Given the description of an element on the screen output the (x, y) to click on. 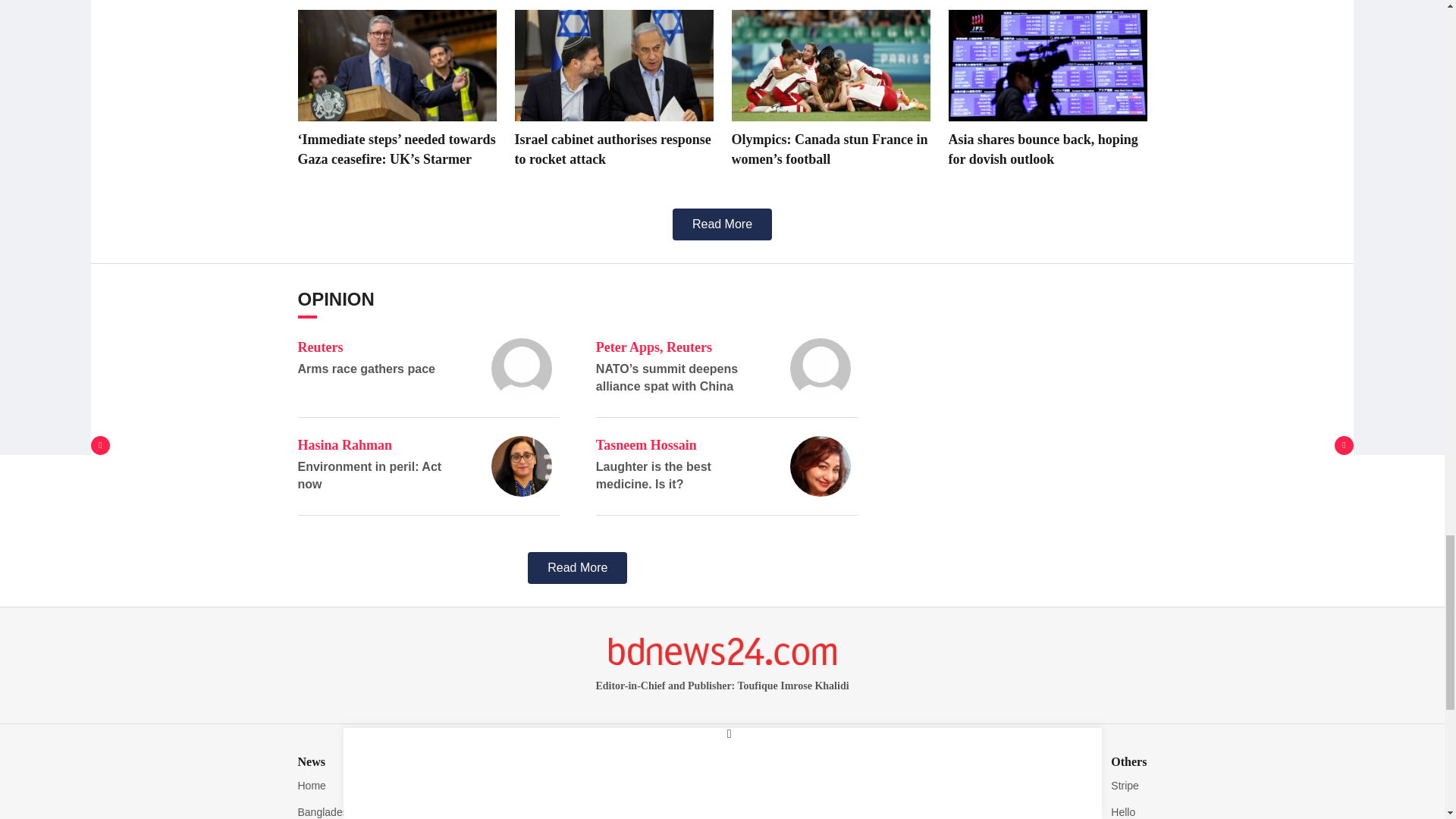
Israel cabinet authorises response to rocket attack (613, 65)
